Given the description of an element on the screen output the (x, y) to click on. 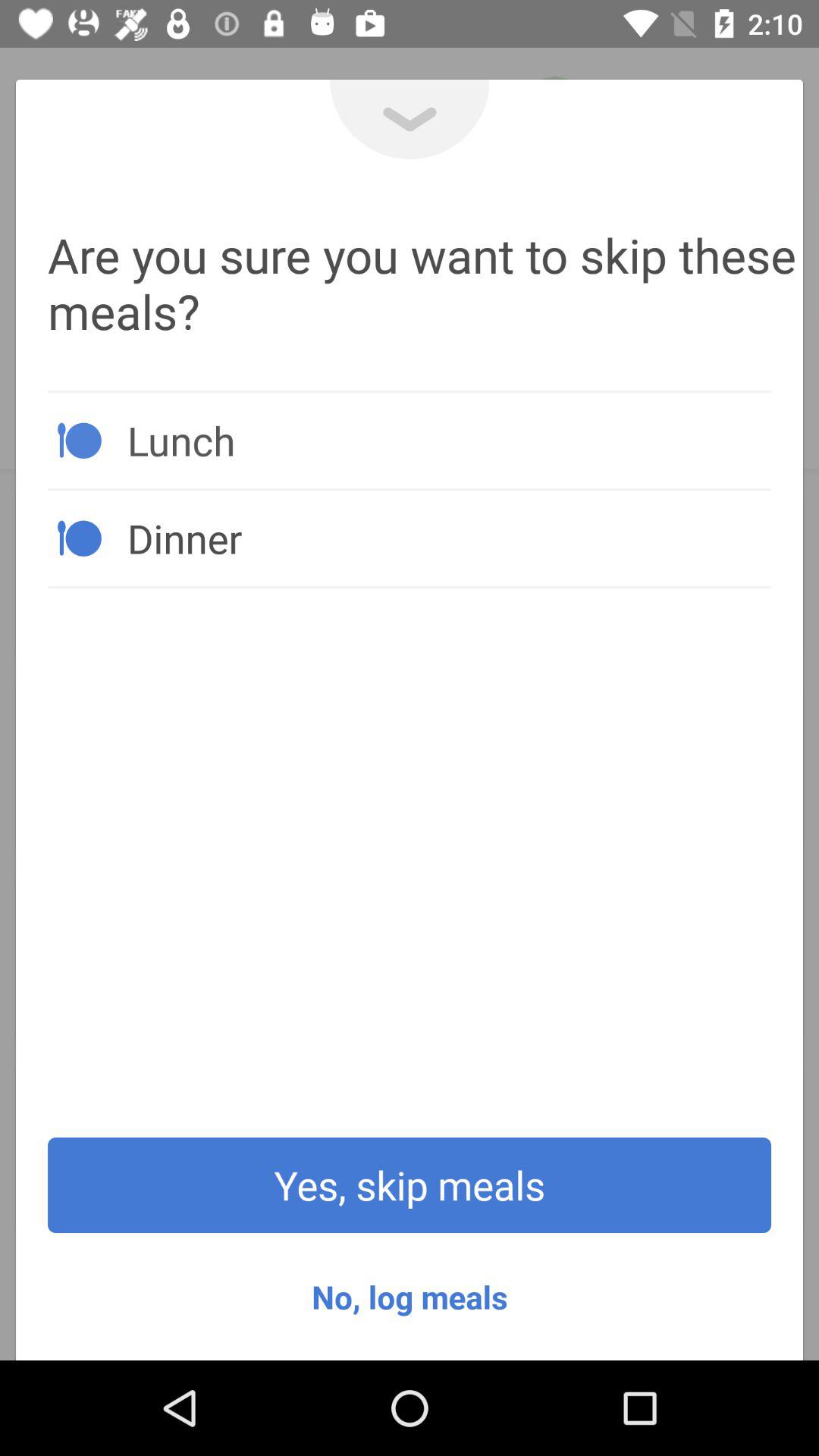
scroll to dinner icon (449, 537)
